Given the description of an element on the screen output the (x, y) to click on. 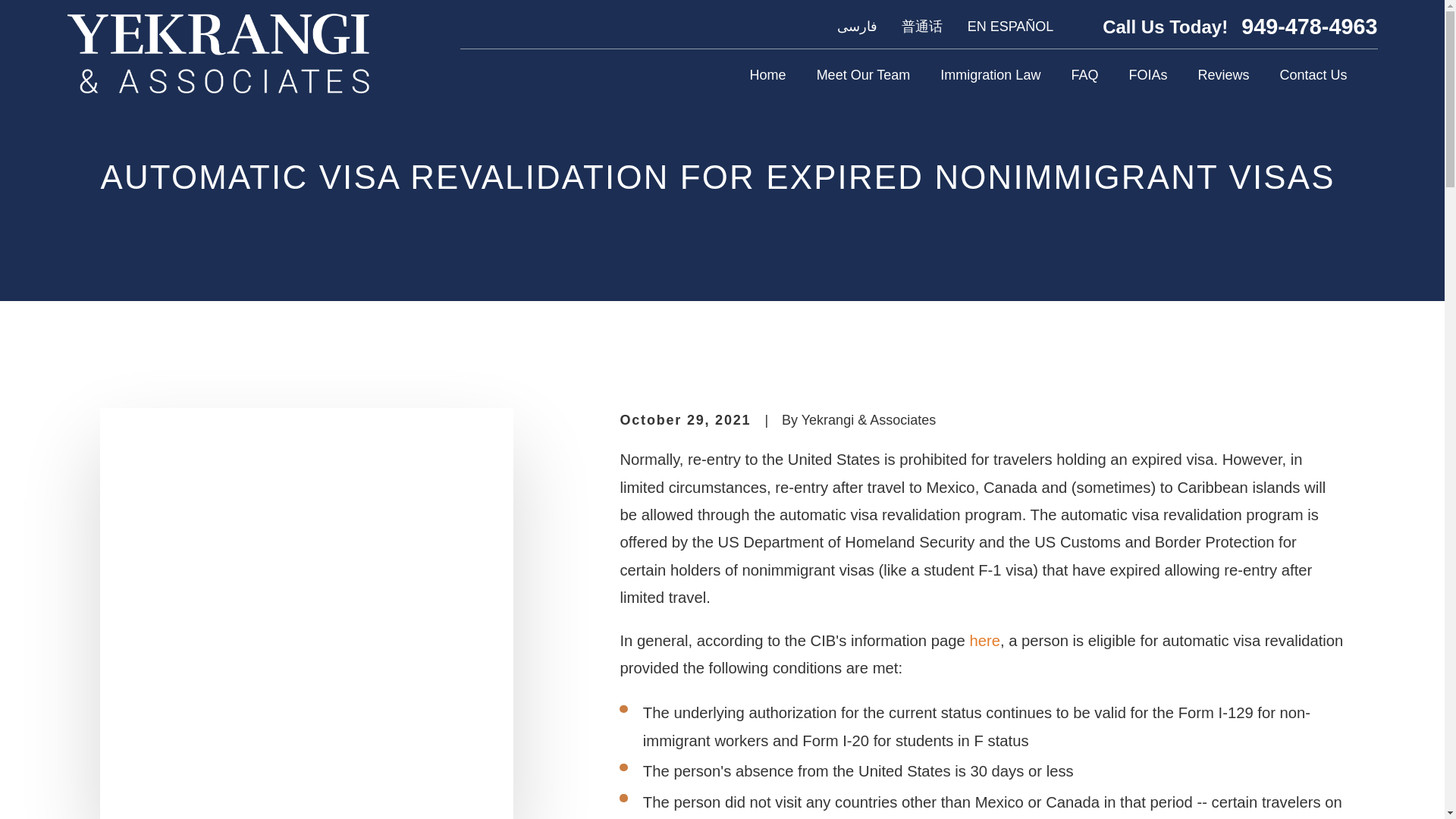
Home (767, 74)
949-478-4963 (1309, 26)
Immigration Law (990, 74)
Home (217, 53)
Meet Our Team (863, 74)
